Given the description of an element on the screen output the (x, y) to click on. 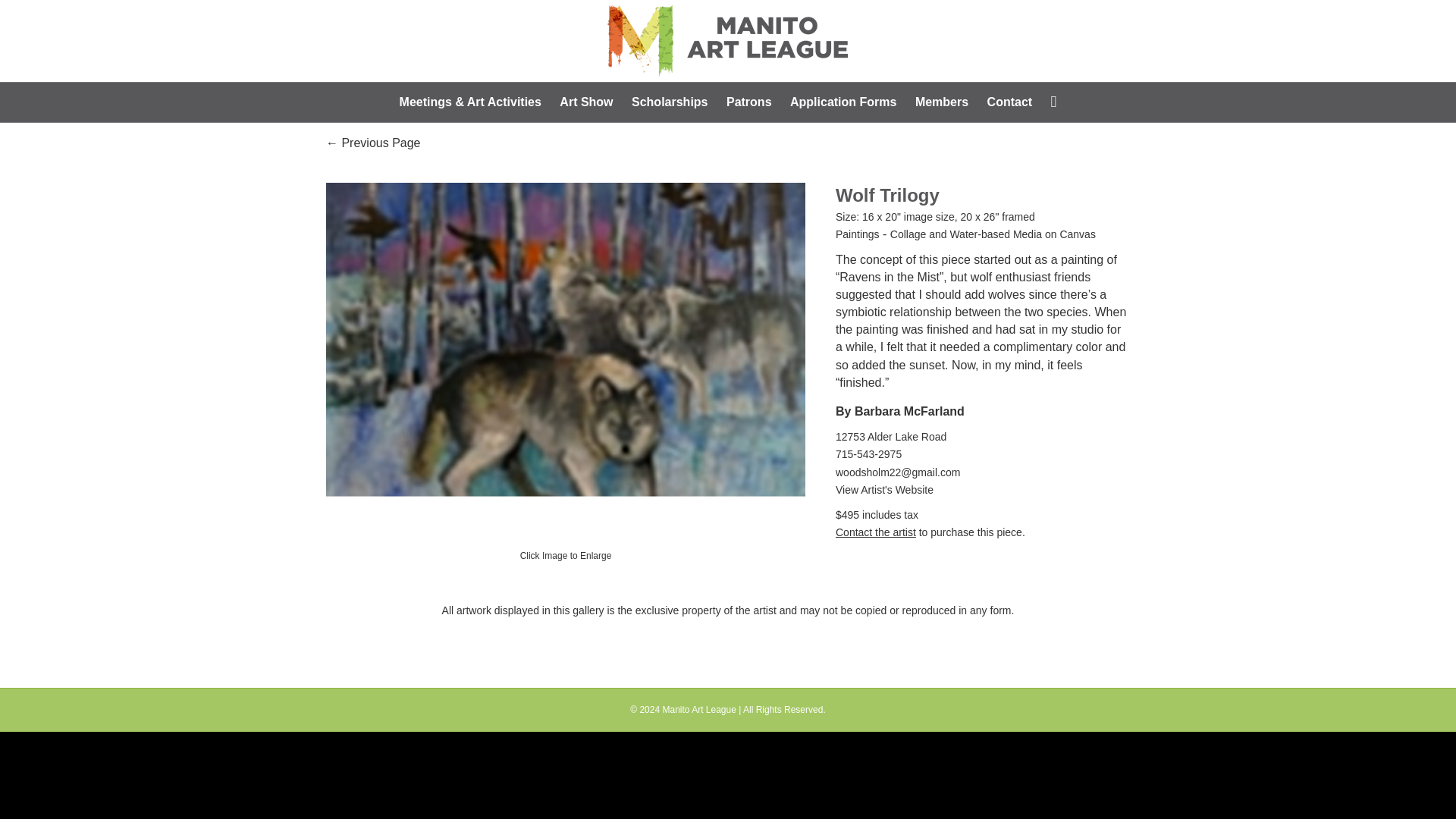
Contact the artist (875, 532)
Contact (1010, 102)
Members (941, 102)
Art Show (585, 102)
Scholarships (669, 102)
Application Forms (843, 102)
Manito Art League (698, 709)
Manito Art League (698, 709)
View Artist's Website (884, 490)
Patrons (748, 102)
